Given the description of an element on the screen output the (x, y) to click on. 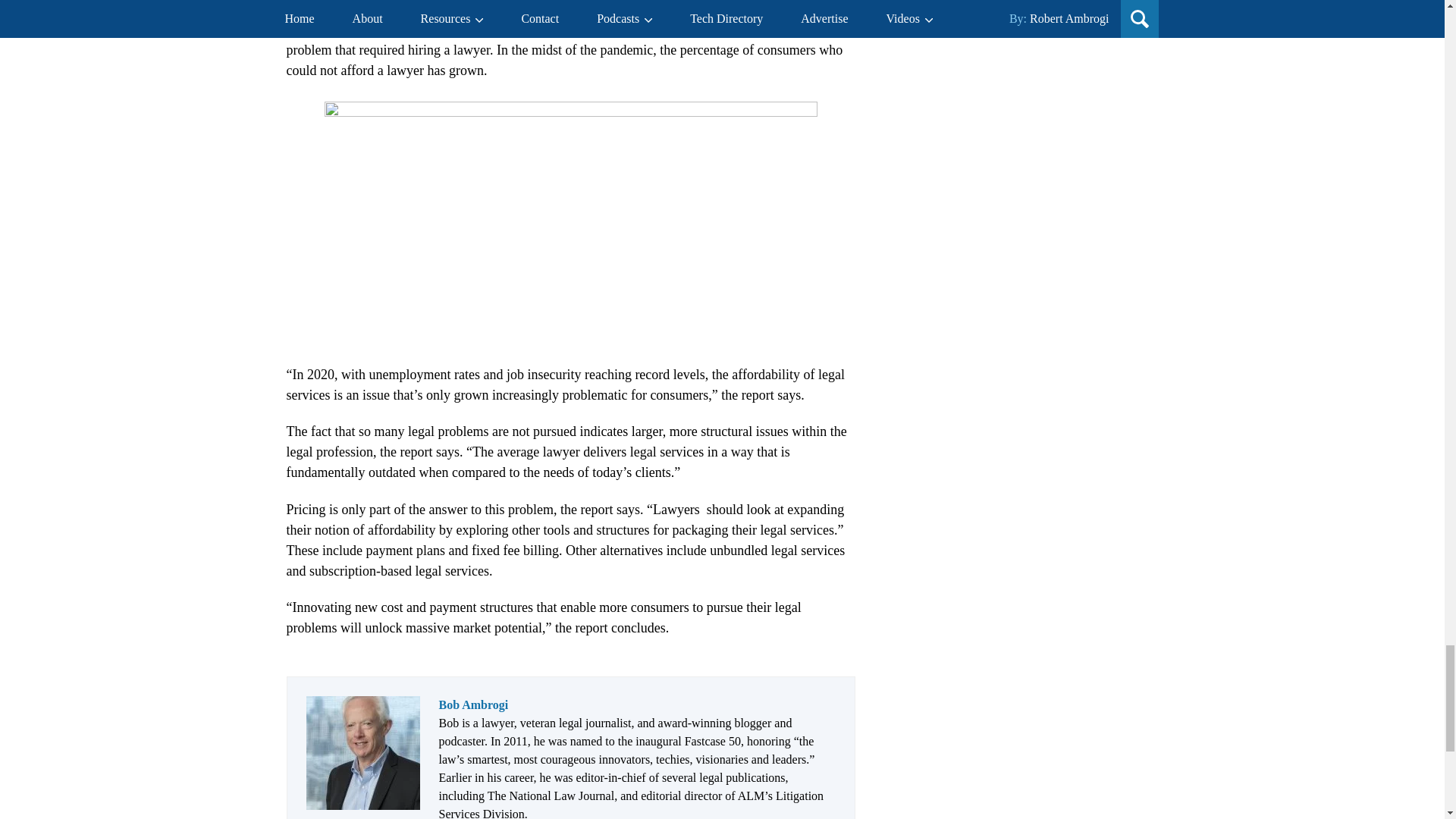
Bob Ambrogi (473, 704)
